Given the description of an element on the screen output the (x, y) to click on. 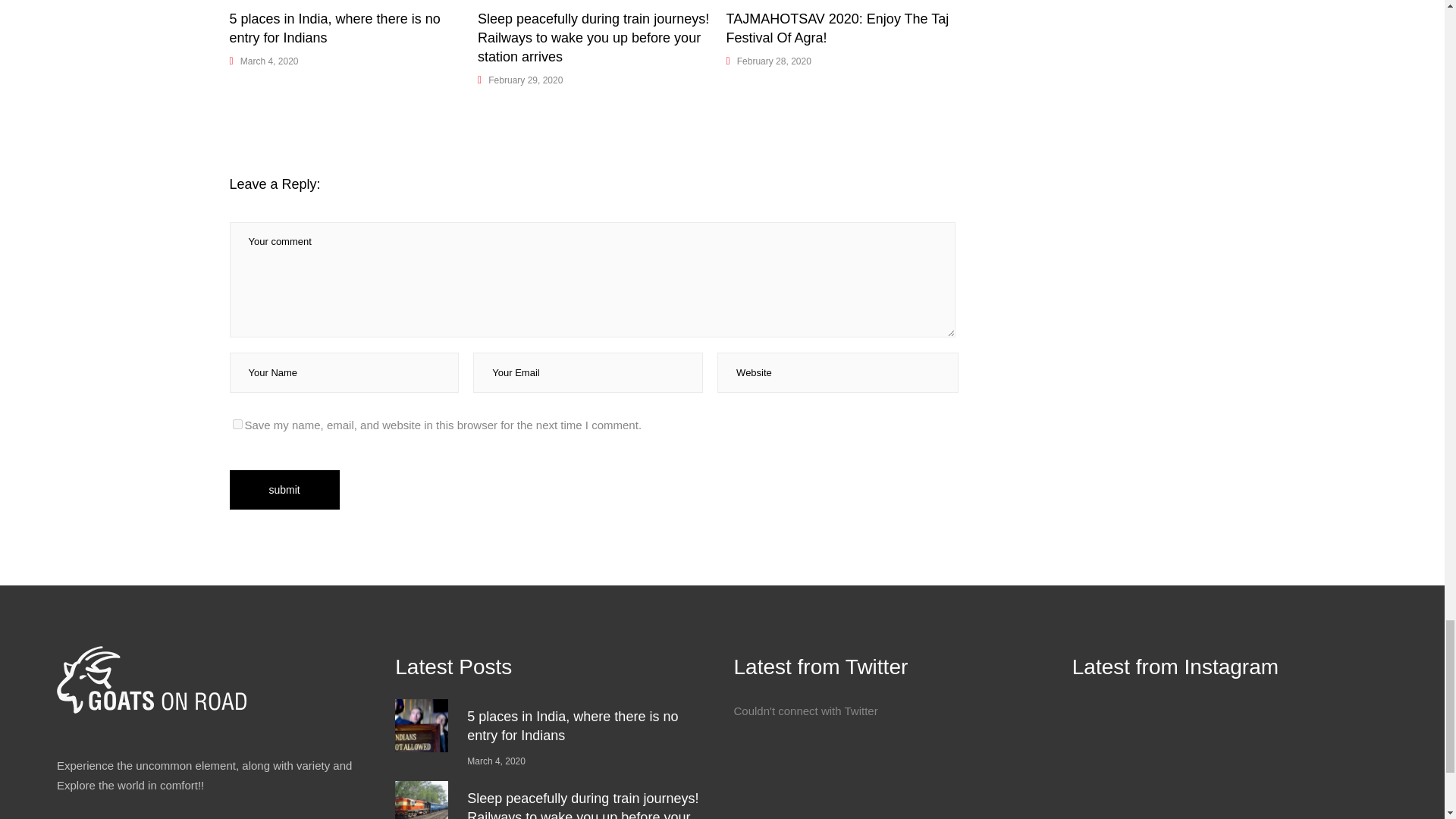
yes (236, 424)
5 places in India, where there is no entry for Indians (333, 28)
TAJMAHOTSAV 2020:  Enjoy The Taj Festival Of Agra! (837, 28)
Submit (283, 489)
